Given the description of an element on the screen output the (x, y) to click on. 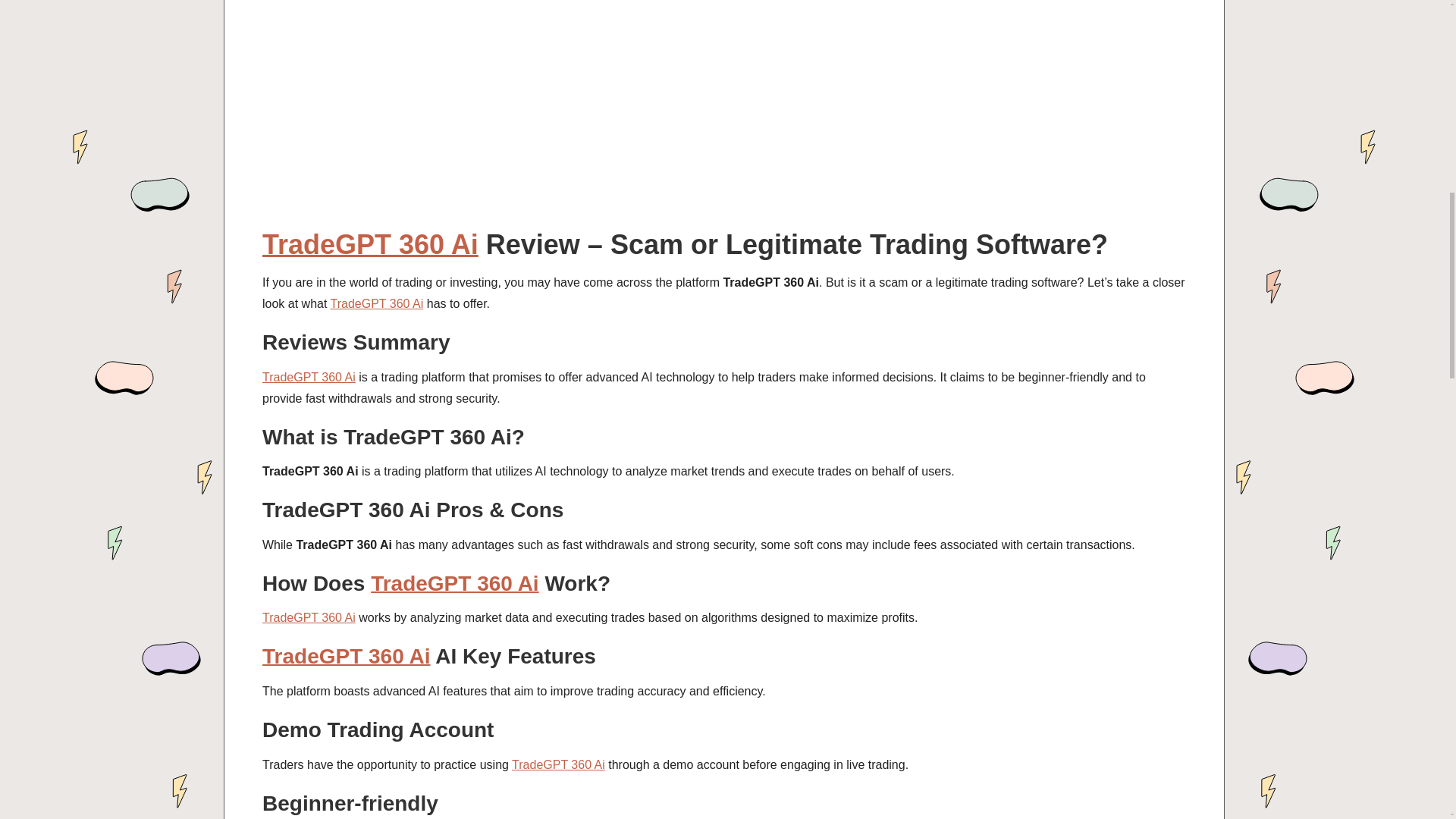
TradeGPT 360 Ai (454, 583)
TradeGPT 360 Ai (558, 764)
TradeGPT 360 Ai (308, 377)
TradeGPT 360 Ai (346, 656)
TradeGPT 360 Ai (370, 244)
TradeGPT 360 Ai (308, 617)
TradeGPT 360 Ai (376, 303)
